Given the description of an element on the screen output the (x, y) to click on. 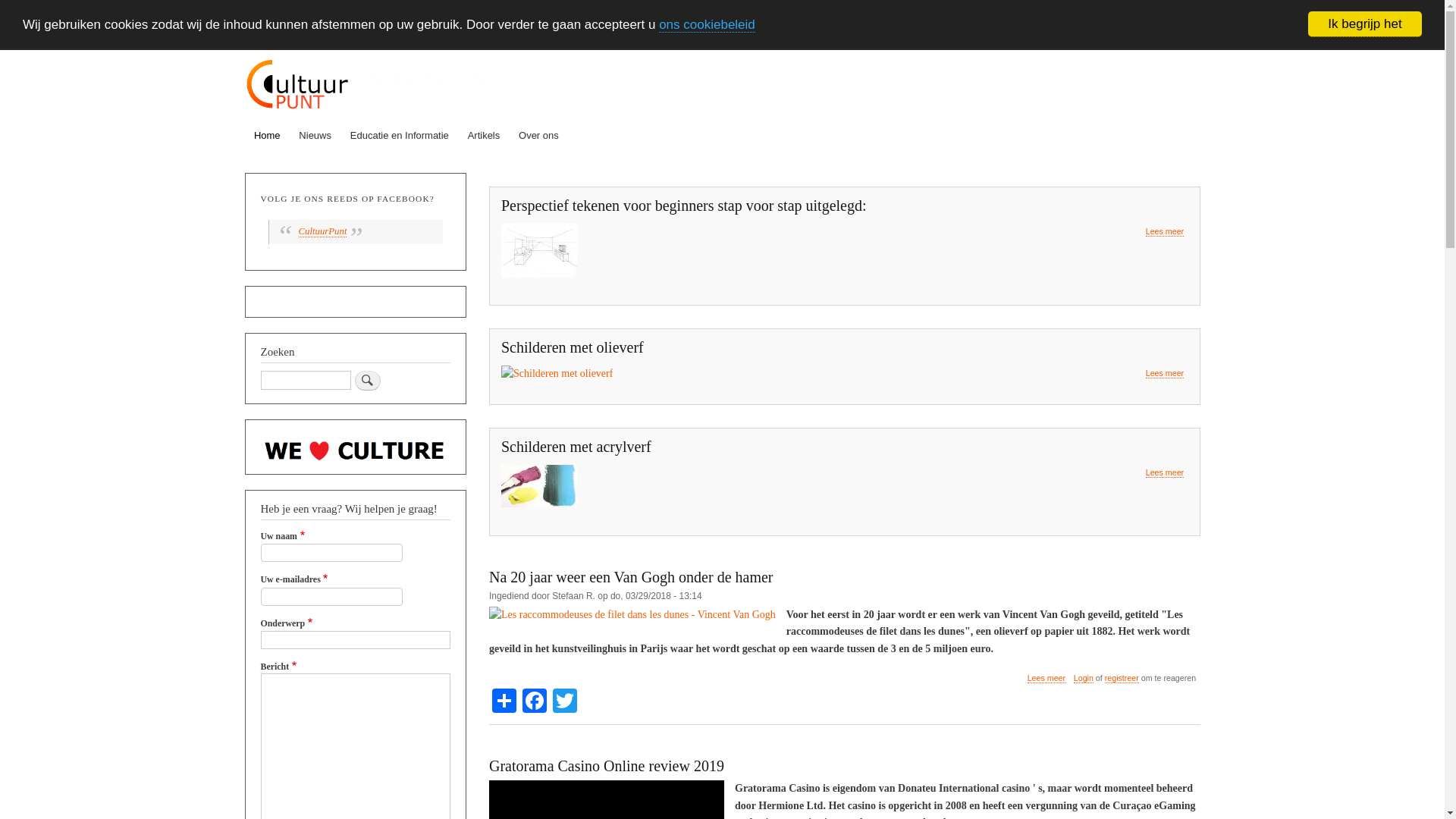
Facebook Element type: text (534, 699)
ons cookiebeleid Element type: text (706, 23)
Artikels Element type: text (483, 135)
Lees meer
over Na 20 jaar weer een Van Gogh onder de hamer Element type: text (1046, 678)
Educatie en Informatie Element type: text (399, 135)
Na 20 jaar weer een Van Gogh onder de hamer Element type: text (630, 576)
Share Element type: text (504, 699)
Ik begrijp het Element type: text (1364, 24)
Twitter Element type: text (564, 699)
CultuurPunt Element type: text (322, 231)
Home Element type: text (266, 135)
Over ons Element type: text (539, 135)
Lees meer
over Schilderen met acrylverf Element type: text (1164, 472)
Lees meer
over Schilderen met olieverf Element type: text (1164, 373)
Zoeken Element type: text (367, 380)
Gratorama Casino Online review 2019 Element type: text (606, 765)
Home Element type: hover (297, 86)
CultuurPunt.be Element type: text (428, 80)
Geef de woorden op waarnaar u wilt zoeken. Element type: hover (305, 379)
registreer Element type: text (1121, 678)
Schilderen met acrylverf Element type: text (576, 446)
Schilderen met olieverf Element type: text (572, 346)
Login Element type: text (1083, 678)
Nieuws Element type: text (314, 135)
Overslaan en naar de inhoud gaan Element type: text (722, 51)
Perspectief tekenen voor beginners stap voor stap uitgelegd: Element type: text (683, 205)
